Given the description of an element on the screen output the (x, y) to click on. 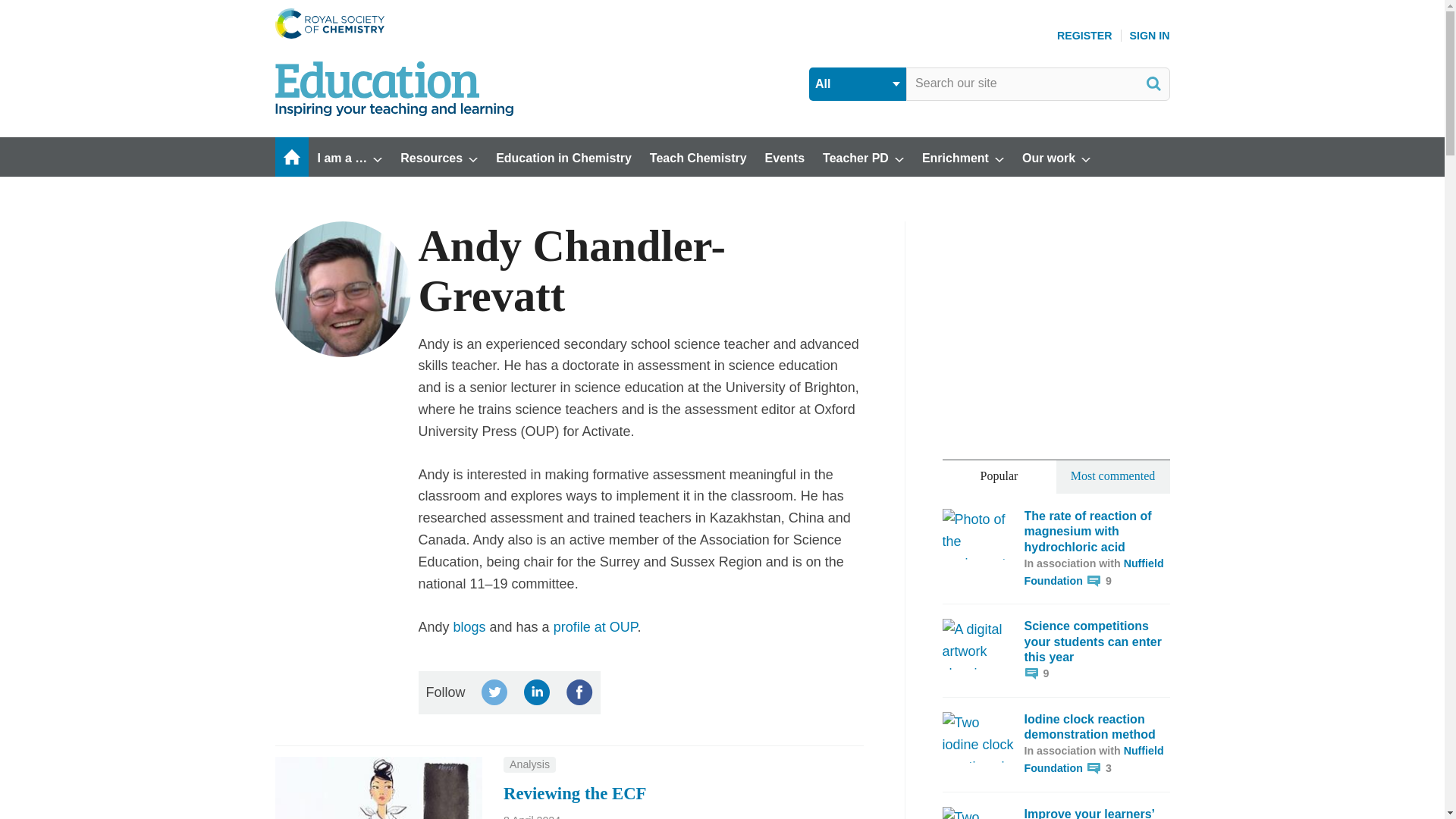
SEARCH (1152, 83)
REGISTER (1084, 35)
SIGN IN (1149, 35)
All (857, 83)
